Given the description of an element on the screen output the (x, y) to click on. 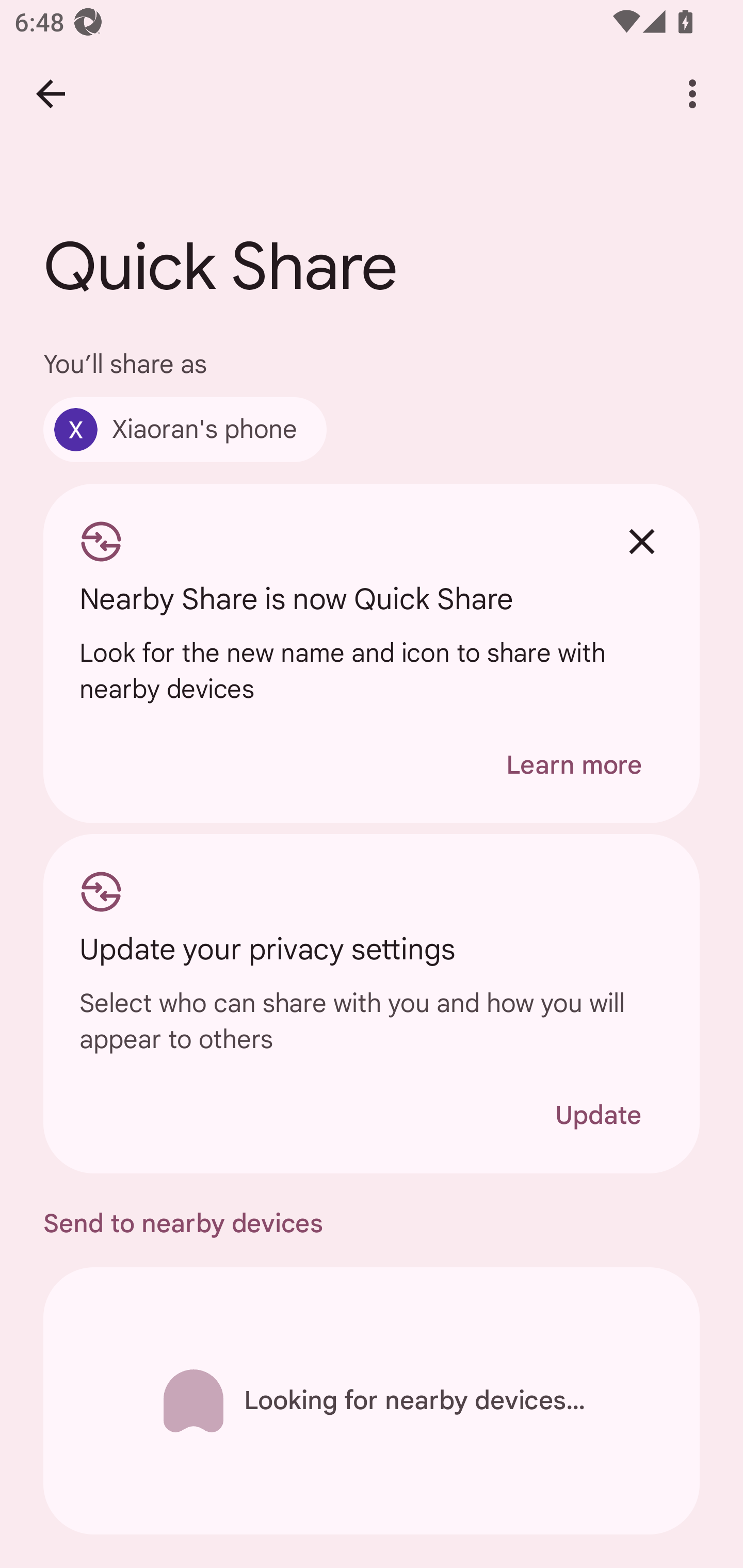
Back (50, 93)
More (692, 93)
Xiaoran's phone (184, 429)
Close (641, 541)
Learn more (573, 765)
Update (598, 1115)
